Given the description of an element on the screen output the (x, y) to click on. 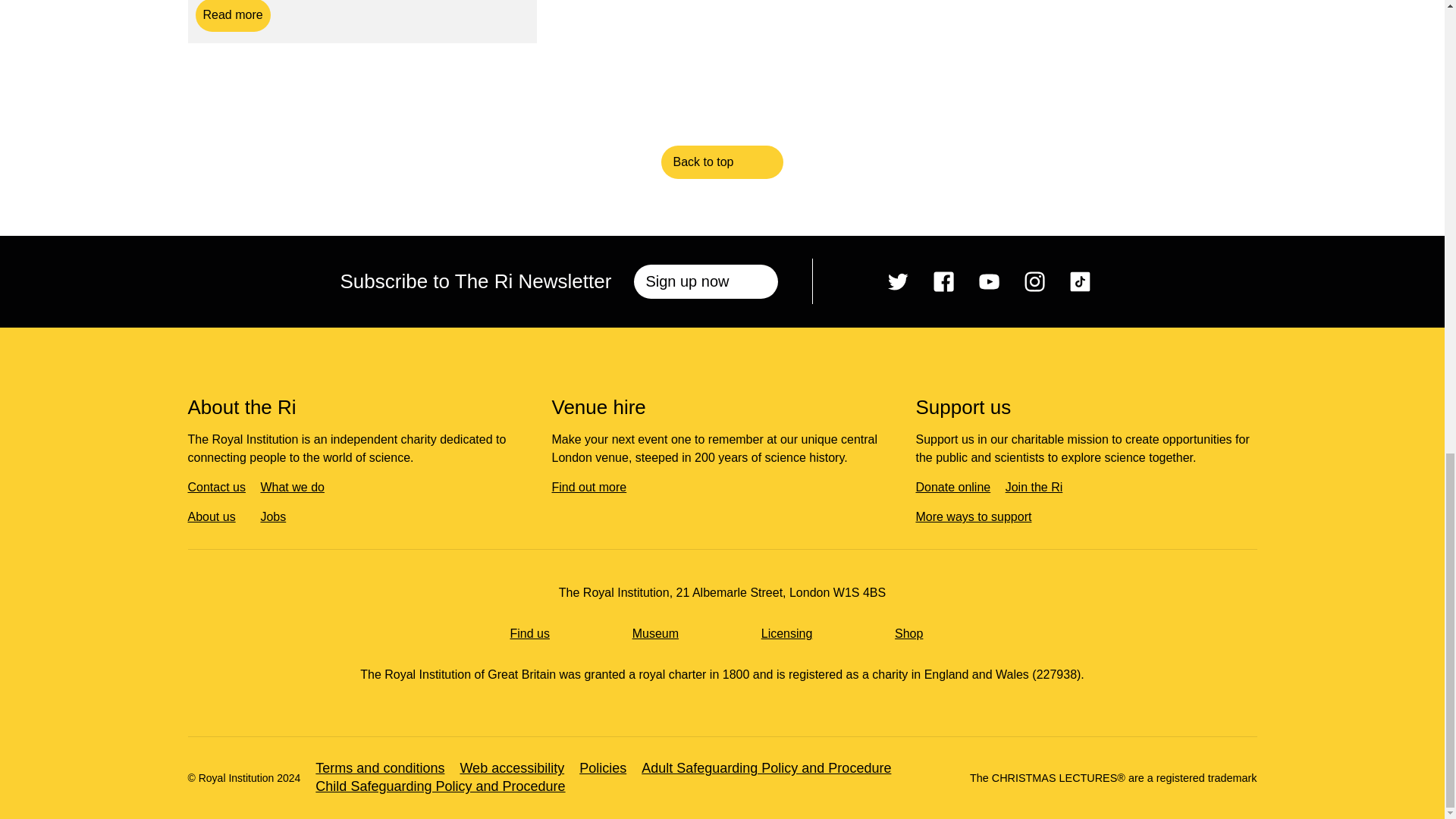
Museum (660, 633)
Open TikTok (1079, 281)
Sign up now (705, 281)
Find out more (594, 487)
Open Facebook (943, 281)
Donate online (958, 487)
About us (217, 516)
Find us (534, 633)
What we do (297, 487)
Back to top (722, 162)
Jobs (278, 516)
Join the Ri (1040, 487)
More ways to support (978, 516)
Open YouTube (989, 281)
